Given the description of an element on the screen output the (x, y) to click on. 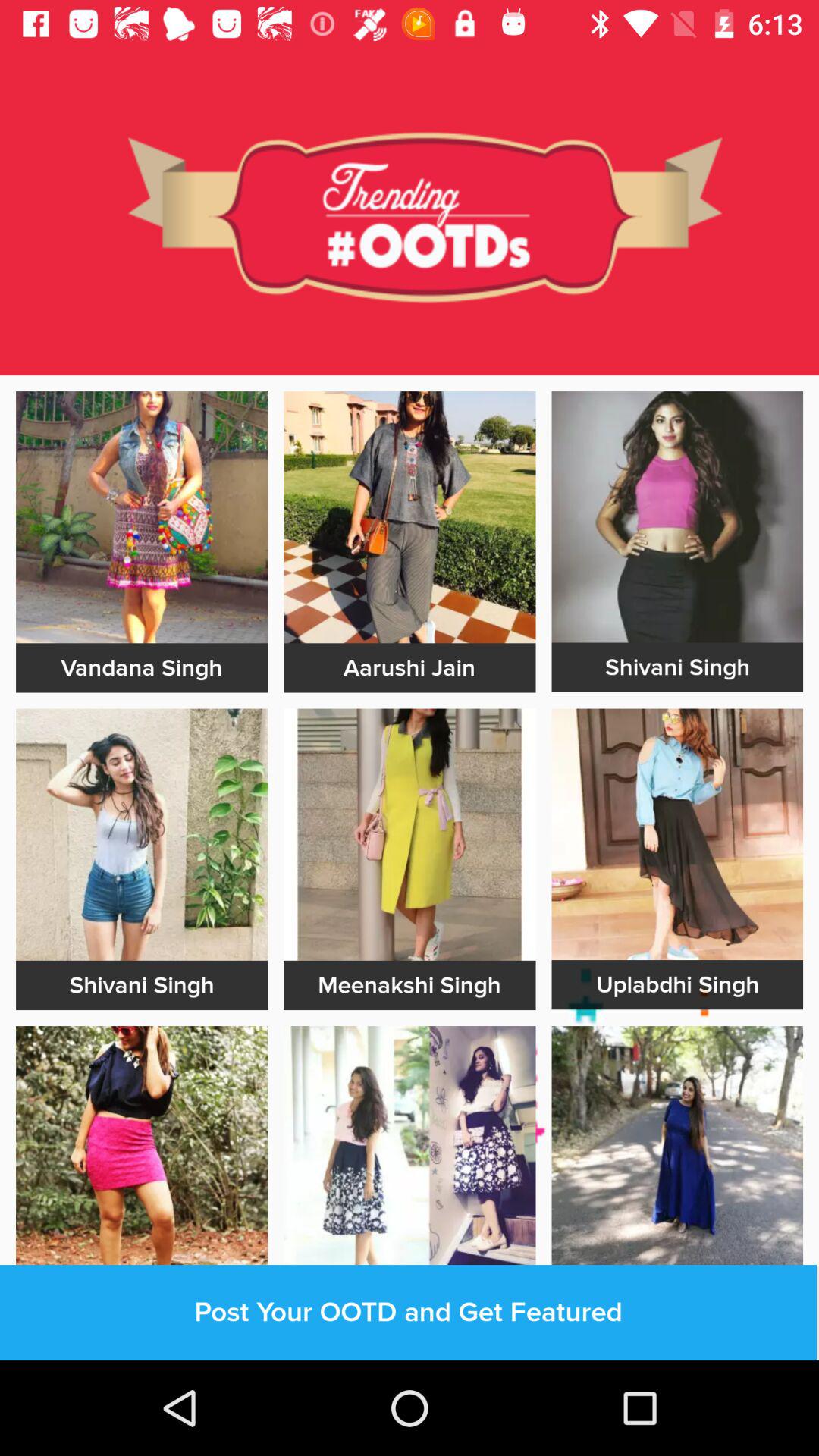
view a larger image (141, 834)
